Given the description of an element on the screen output the (x, y) to click on. 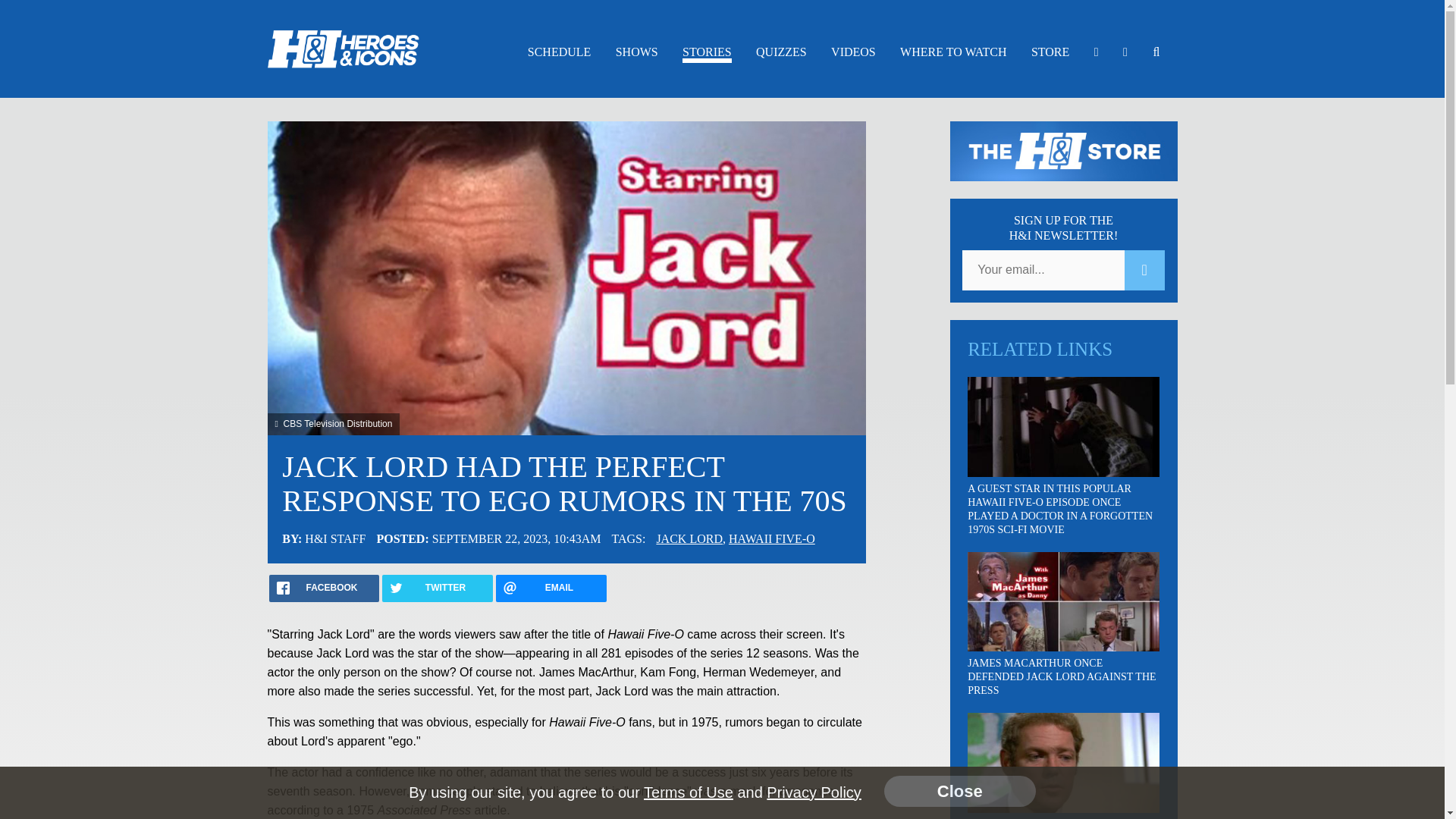
Close (959, 790)
JAMES MACARTHUR ONCE DEFENDED JACK LORD AGAINST THE PRESS (1062, 676)
HAWAII FIVE-O (772, 538)
WHERE TO WATCH (952, 51)
EMAIL (551, 587)
STORE (1049, 51)
VIDEOS (853, 51)
QUIZZES (780, 51)
JACK LORD (689, 538)
Privacy Policy (813, 791)
STORIES (707, 54)
FACEBOOK (322, 587)
Terms of Use (688, 791)
TWITTER (437, 587)
